Given the description of an element on the screen output the (x, y) to click on. 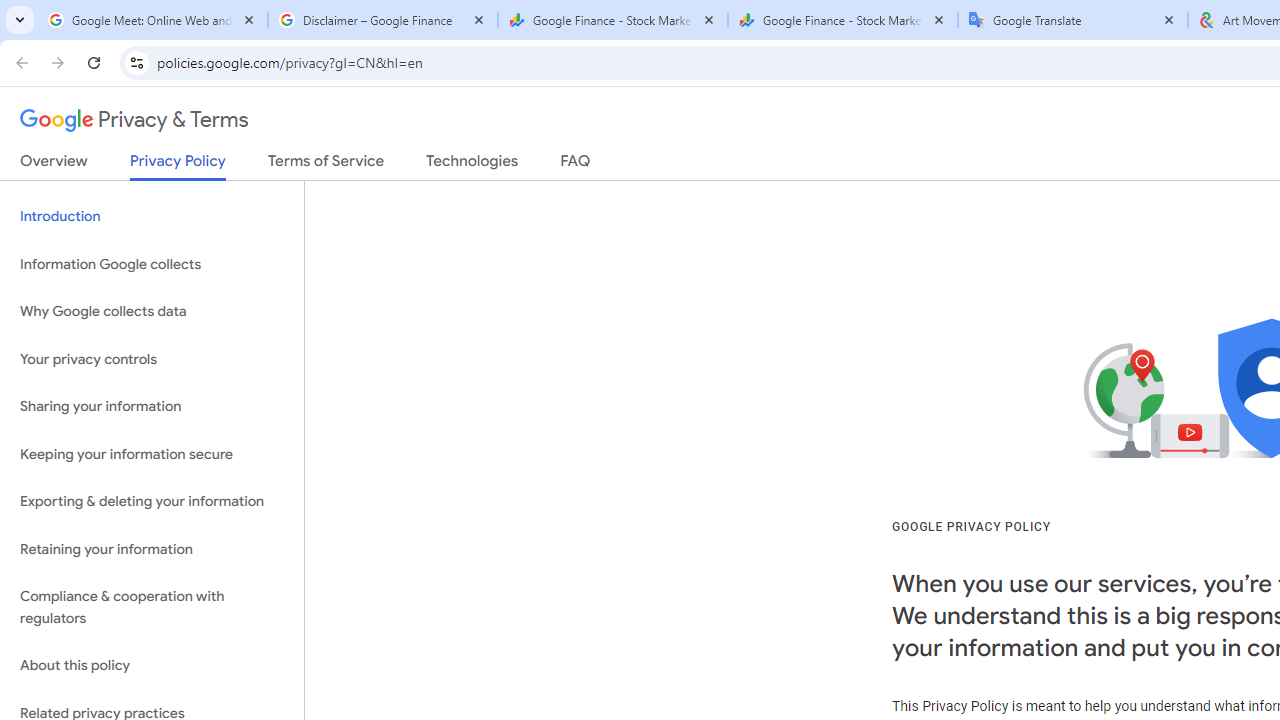
Google Translate (1072, 20)
